Given the description of an element on the screen output the (x, y) to click on. 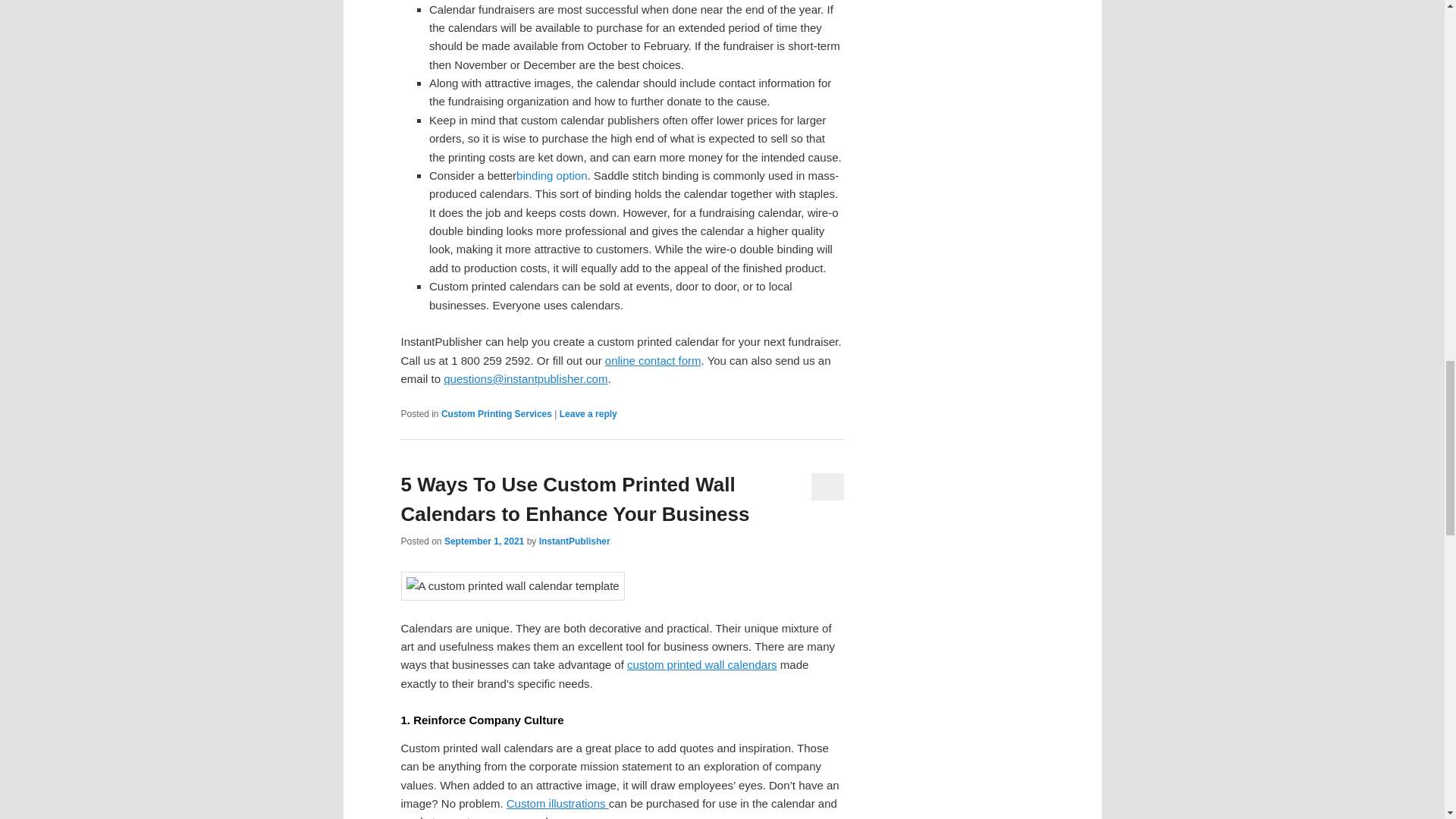
InstantPublisher (574, 541)
binding option (551, 174)
Custom illustrations (557, 802)
12:00 am (484, 541)
Custom Printing Services (496, 413)
custom printed wall calendars (702, 664)
online contact form (653, 359)
September 1, 2021 (484, 541)
Leave a reply (588, 413)
